Given the description of an element on the screen output the (x, y) to click on. 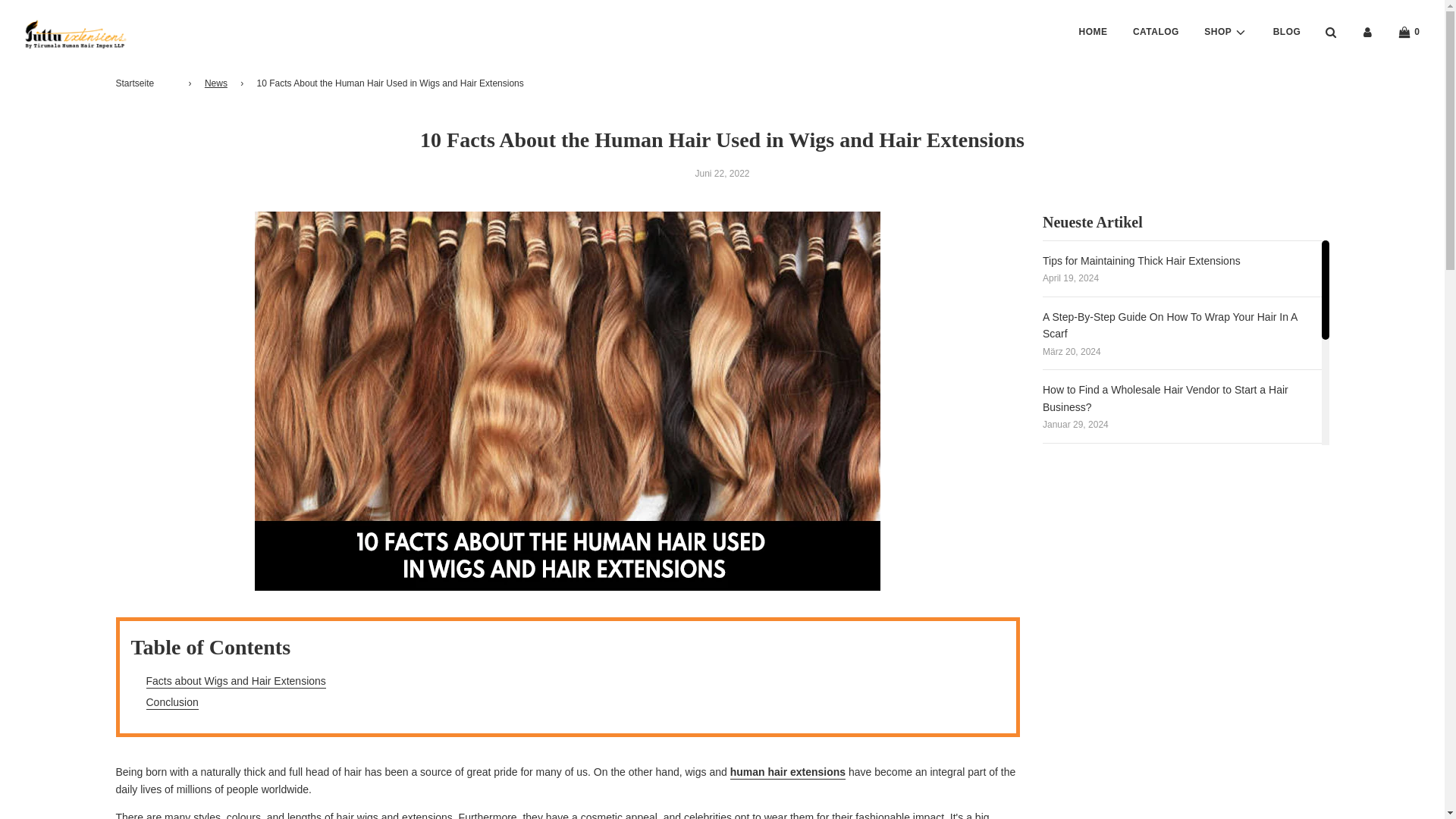
CATALOG (1156, 31)
Einloggen (1367, 31)
BLOG (1287, 31)
HOME (1093, 31)
0 (1409, 32)
SHOP (1225, 31)
